Given the description of an element on the screen output the (x, y) to click on. 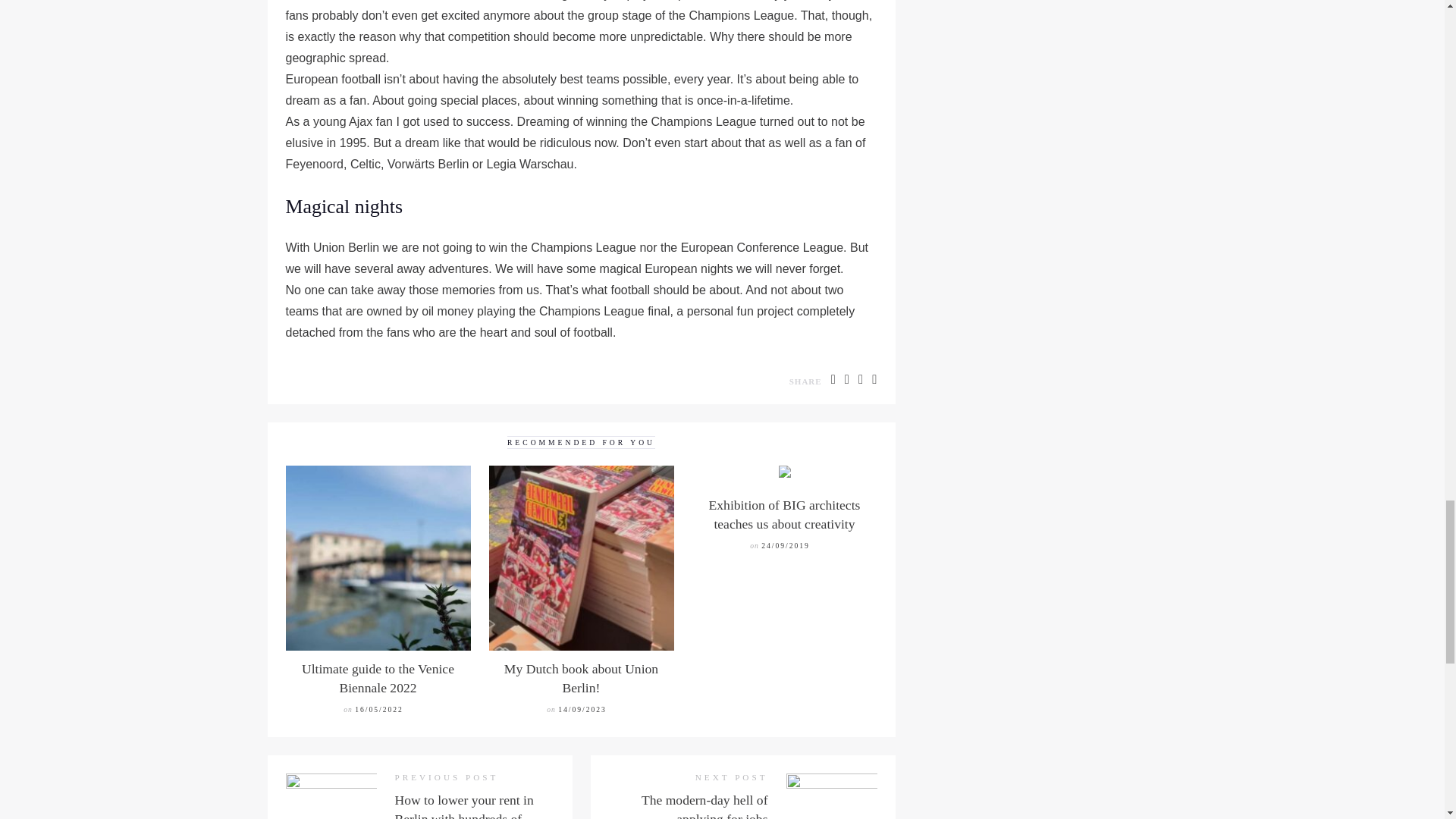
Ultimate guide to the Venice Biennale 2022 (377, 677)
How to lower your rent in Berlin with hundreds of euros (463, 805)
The modern-day hell of applying for jobs (705, 805)
My Dutch book about Union Berlin! (580, 677)
Exhibition of BIG architects teaches us about creativity (784, 514)
